Given the description of an element on the screen output the (x, y) to click on. 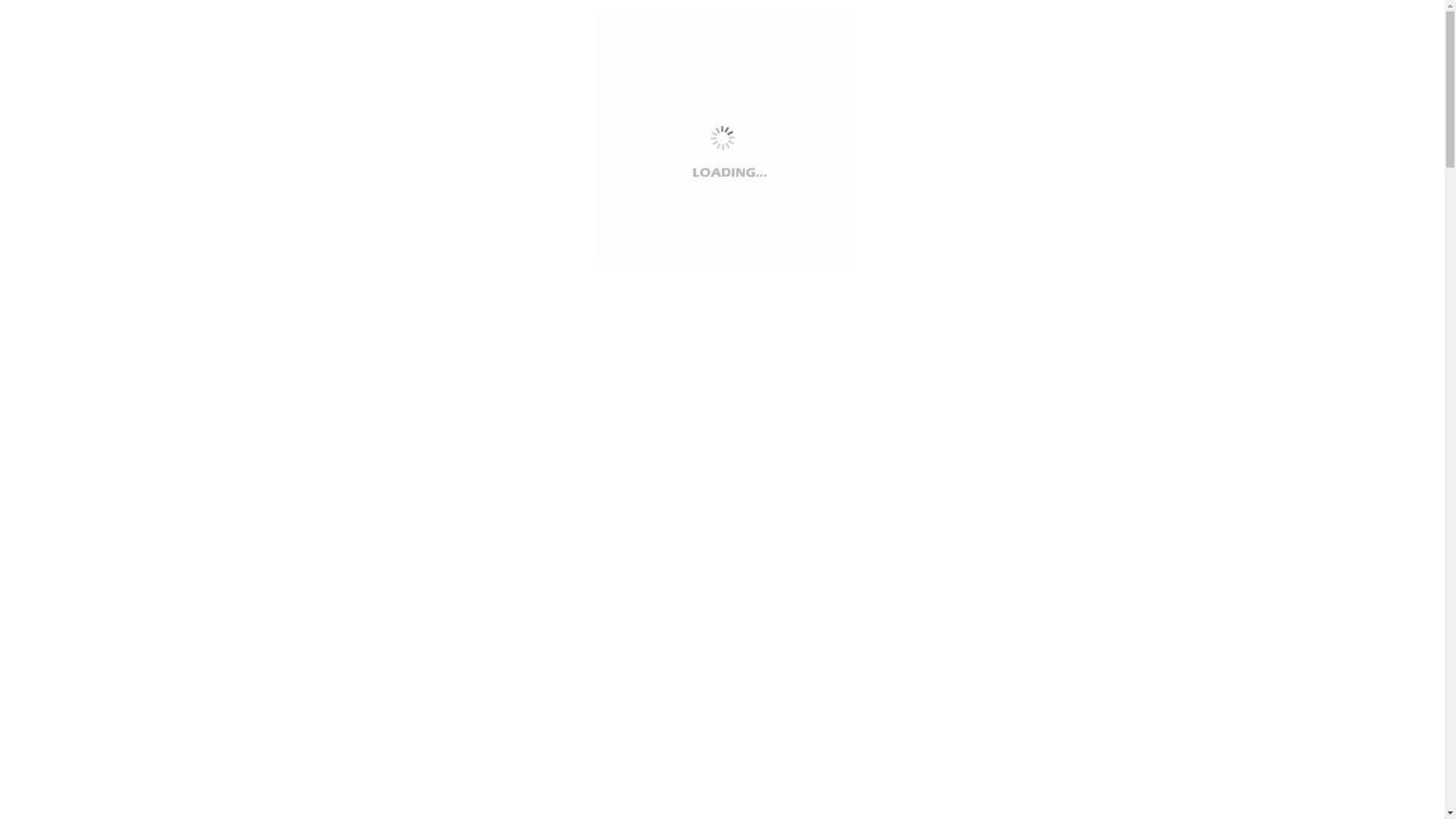
SOWS (259, 372)
Services (232, 592)
GROWING AND FATTENING (320, 567)
Ingaso (228, 519)
PIGLETS (267, 359)
Contact (231, 628)
News (226, 604)
GROWING AND FATTENING (320, 384)
